Given the description of an element on the screen output the (x, y) to click on. 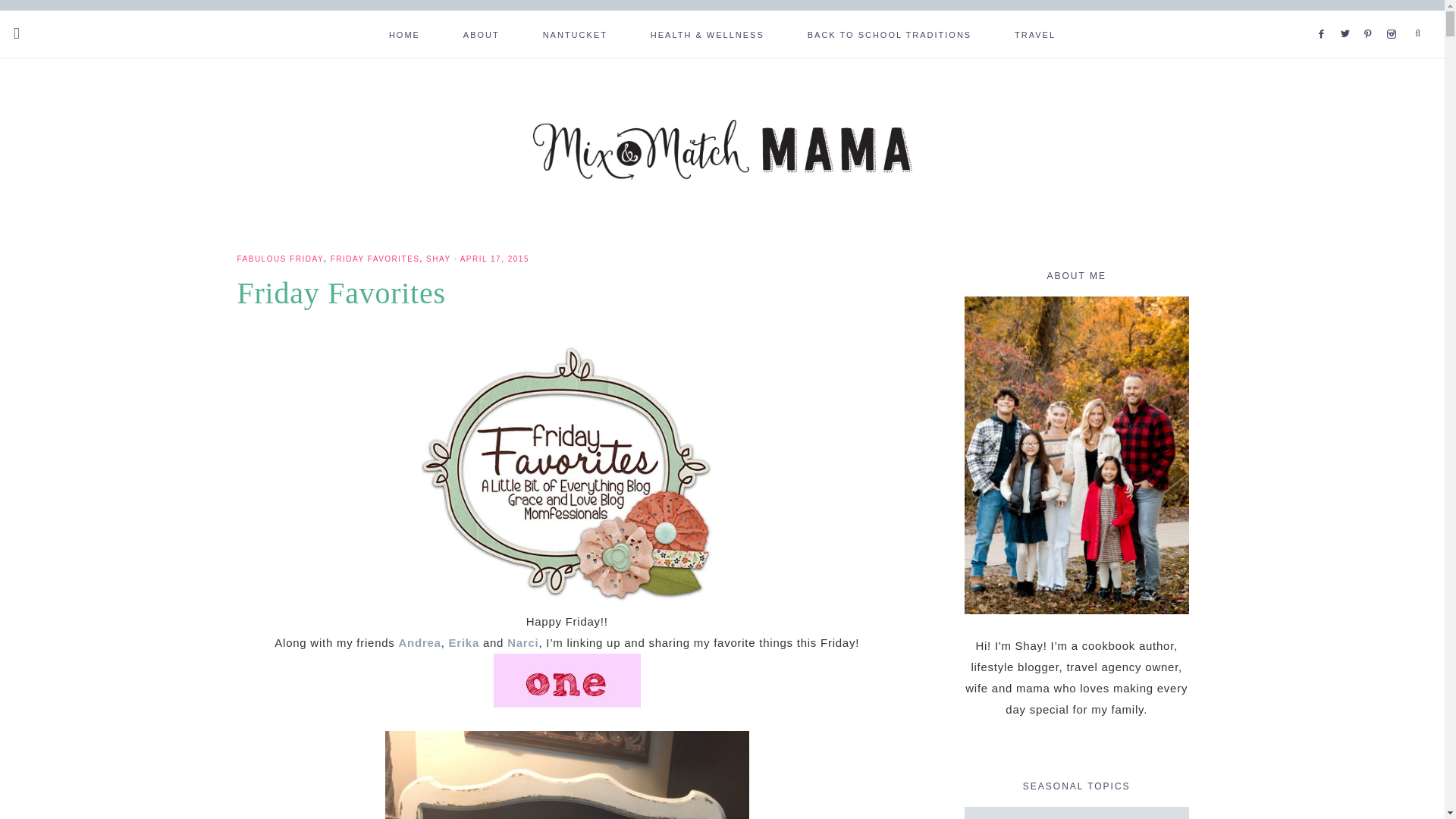
Instagram (1393, 14)
Pinterest (1371, 14)
NANTUCKET (574, 33)
BACK TO SCHOOL TRADITIONS (889, 33)
Facebook (1324, 14)
Erika (463, 642)
Twitter (1348, 14)
Andrea (419, 642)
SHAY (437, 258)
TRAVEL (1034, 33)
